Given the description of an element on the screen output the (x, y) to click on. 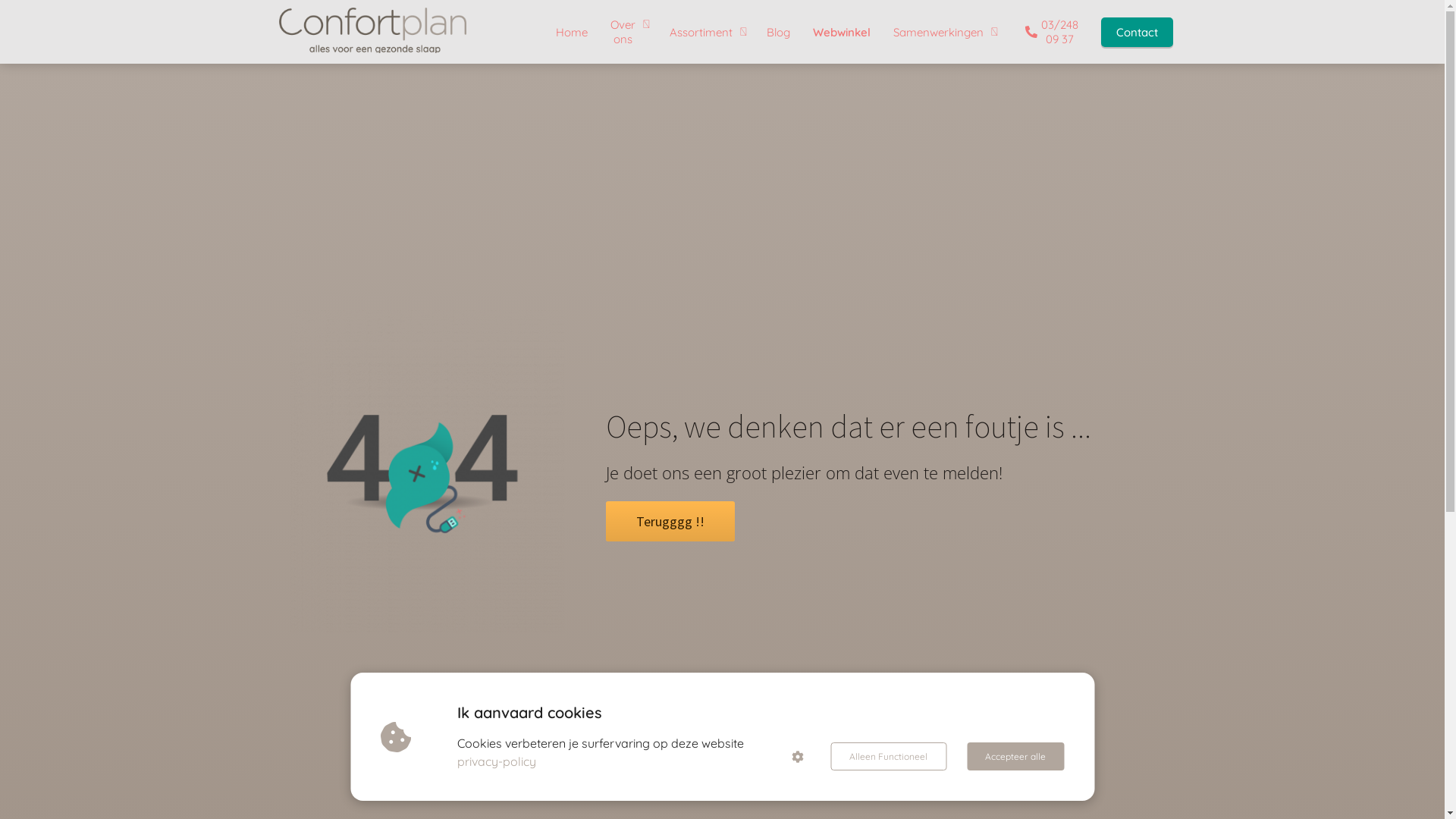
Webwinkel Element type: text (840, 31)
03/248 09 37 Element type: text (1046, 31)
Terugggg !! Element type: text (669, 523)
Home Element type: text (571, 31)
privacy-policy Element type: text (496, 761)
Contact Element type: text (1135, 31)
Blog Element type: text (778, 31)
